Given the description of an element on the screen output the (x, y) to click on. 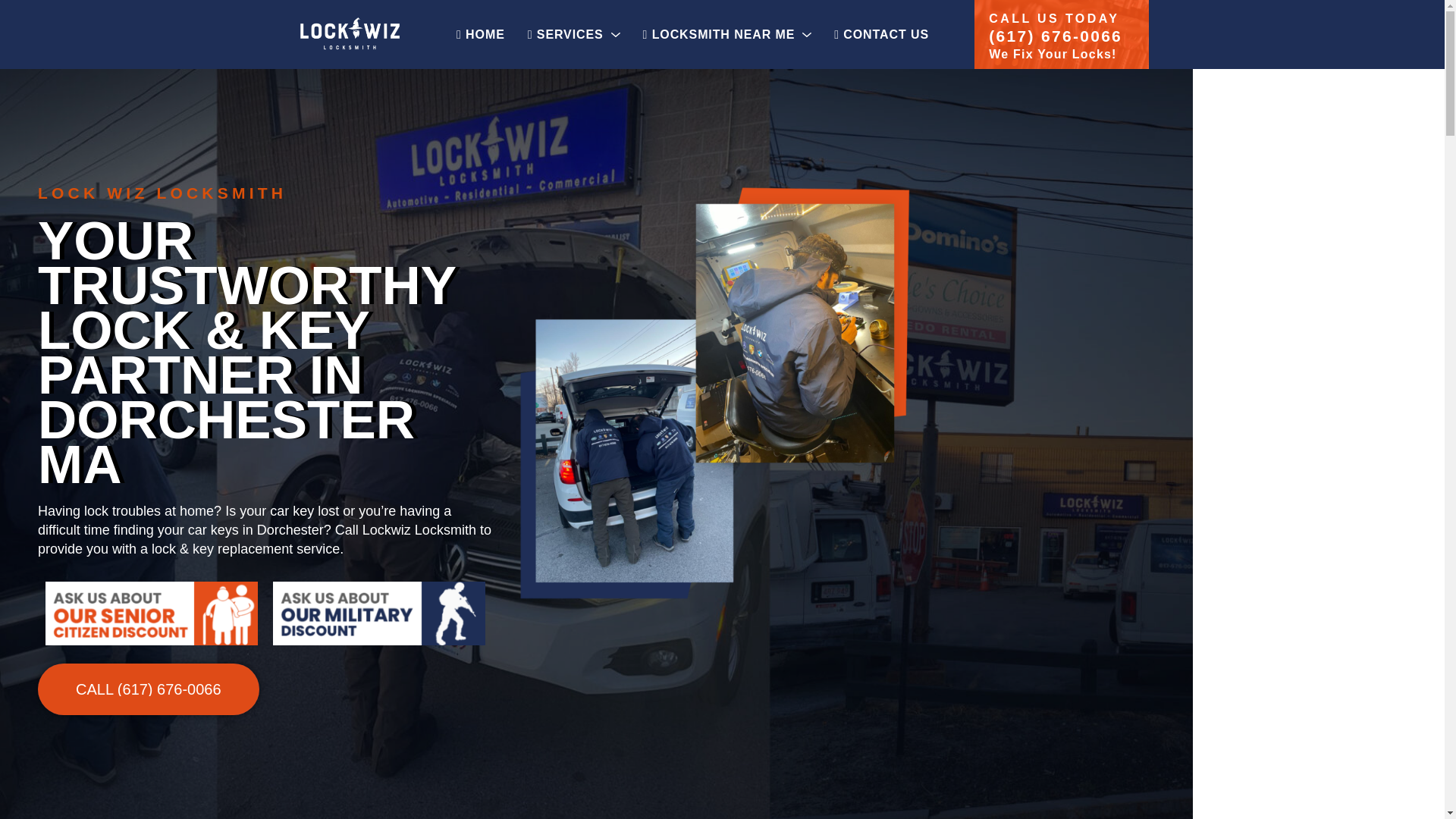
 CONTACT US (881, 34)
 HOME (480, 34)
 SERVICES (573, 34)
 LOCKSMITH NEAR ME (727, 34)
